Given the description of an element on the screen output the (x, y) to click on. 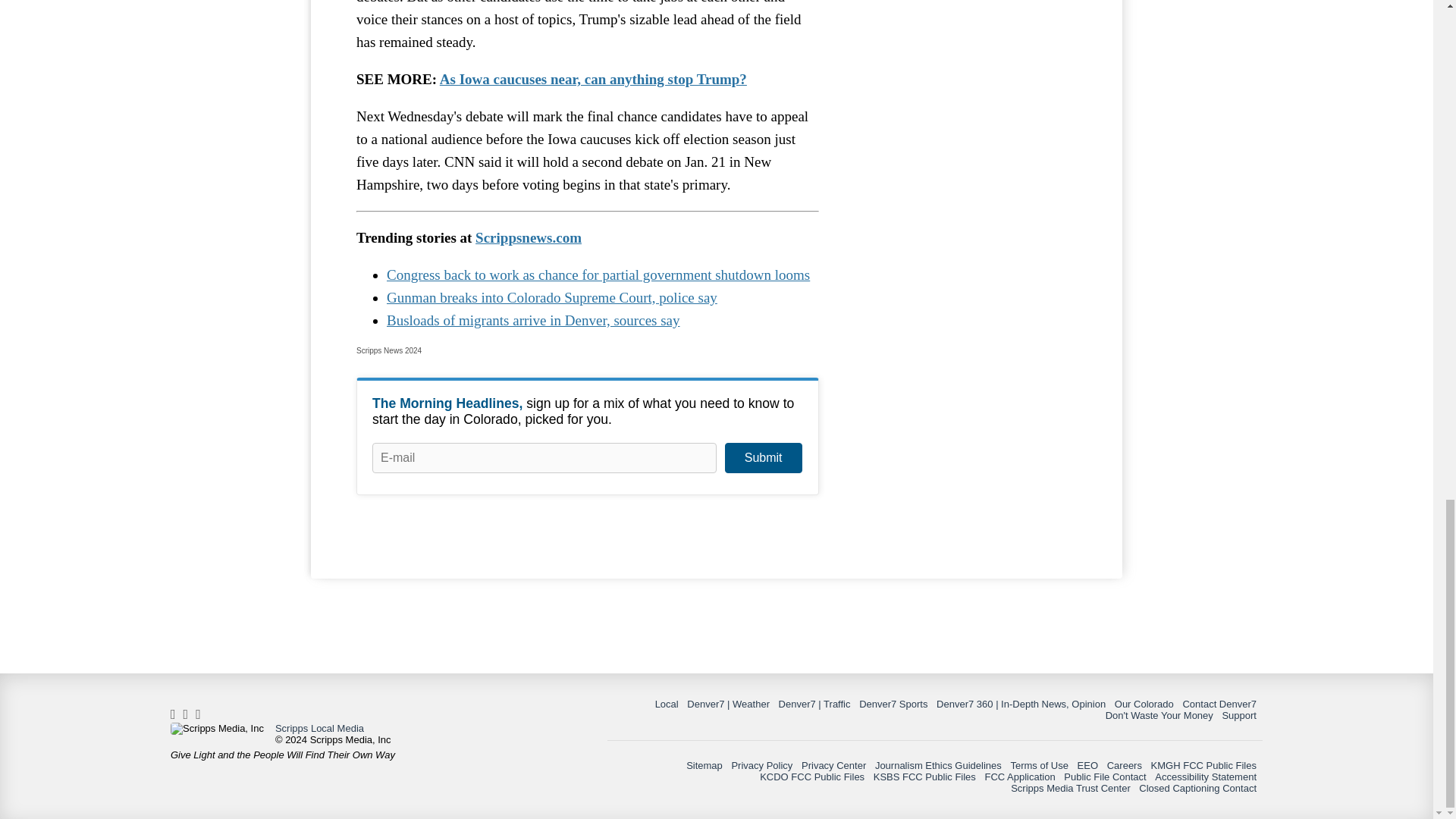
Submit (763, 458)
